Given the description of an element on the screen output the (x, y) to click on. 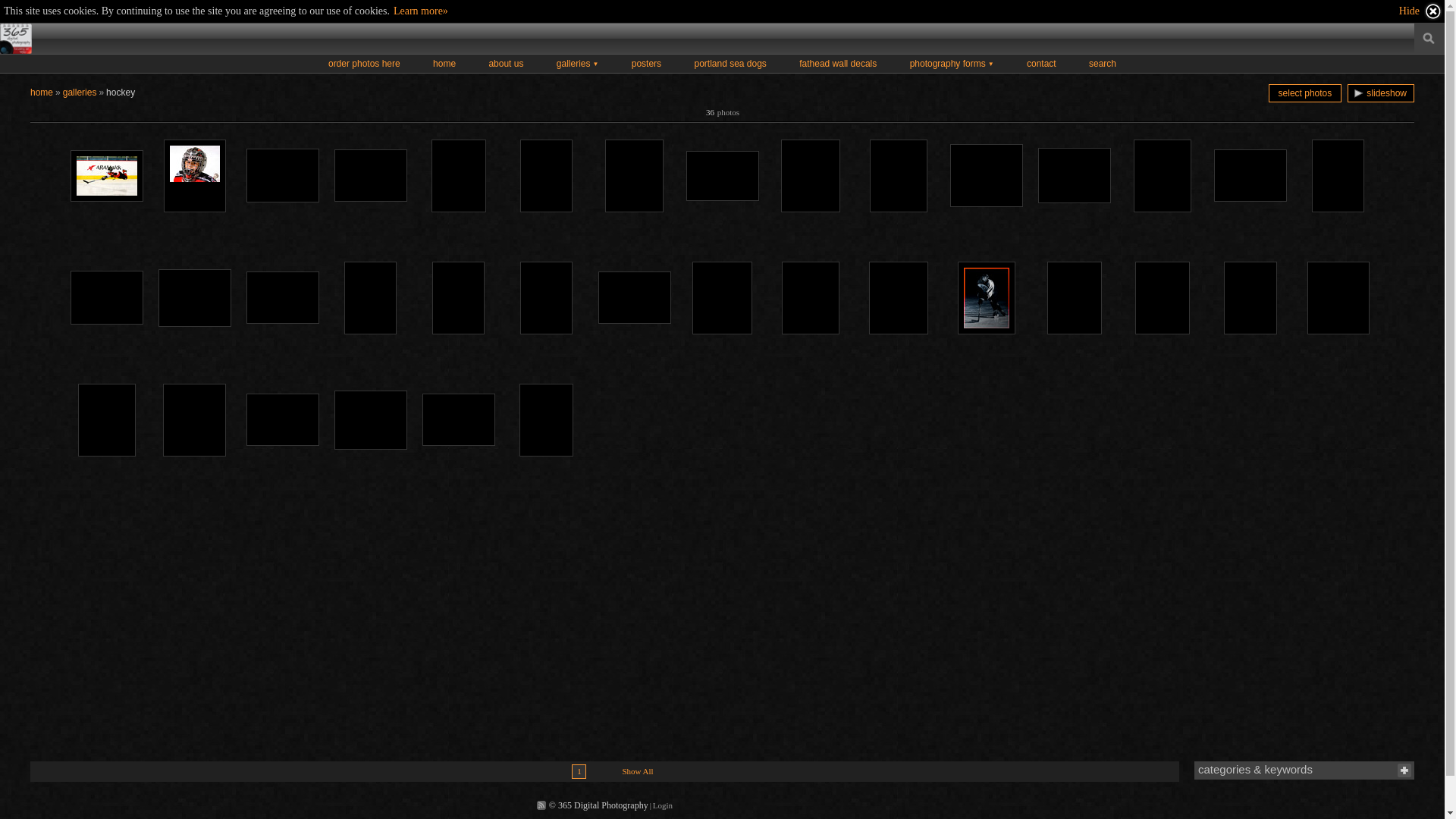
search Element type: text (1102, 63)
contact Element type: text (1041, 63)
1 Element type: text (578, 771)
posters Element type: text (646, 63)
home Element type: text (41, 92)
365 Digital Photography Element type: hover (15, 38)
about us Element type: text (505, 63)
galleries Element type: text (79, 92)
home Element type: text (443, 63)
fathead wall decals Element type: text (837, 63)
order photos here Element type: text (364, 63)
portland sea dogs Element type: text (729, 63)
Login Element type: text (662, 804)
Hide Element type: text (1420, 11)
categories & keywords Element type: text (1255, 768)
Show All Element type: text (637, 771)
